Given the description of an element on the screen output the (x, y) to click on. 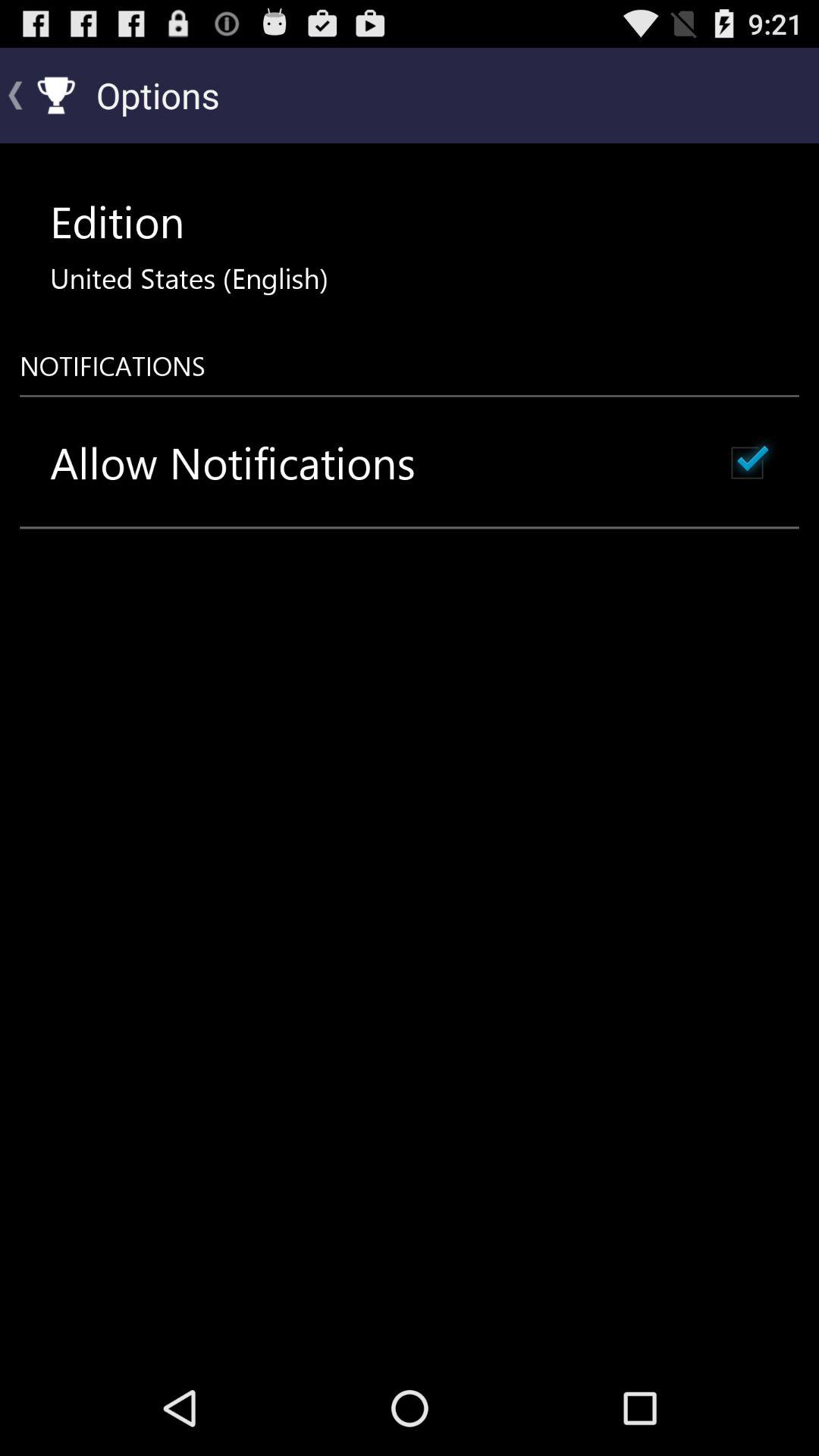
choose icon above united states (english) item (117, 221)
